Given the description of an element on the screen output the (x, y) to click on. 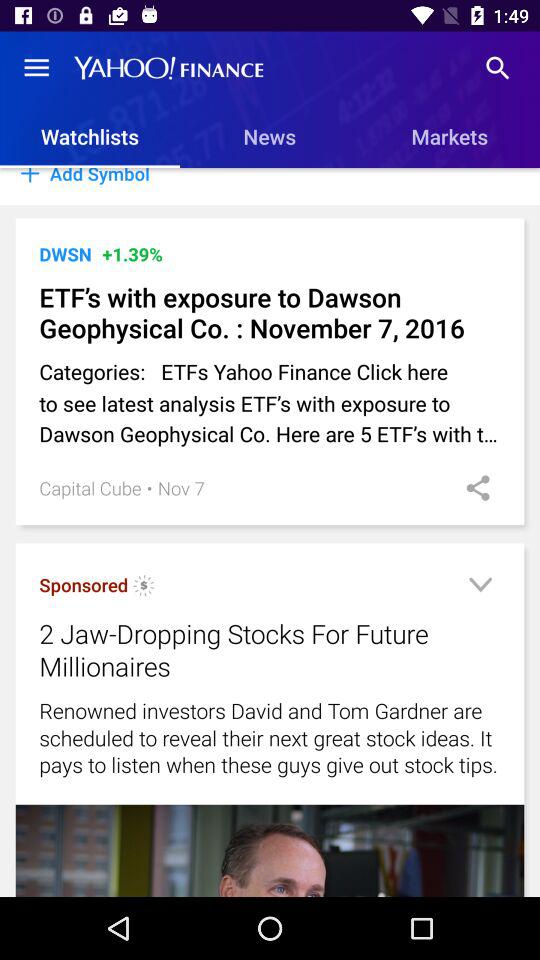
press item below categories etfs yahoo (180, 487)
